Given the description of an element on the screen output the (x, y) to click on. 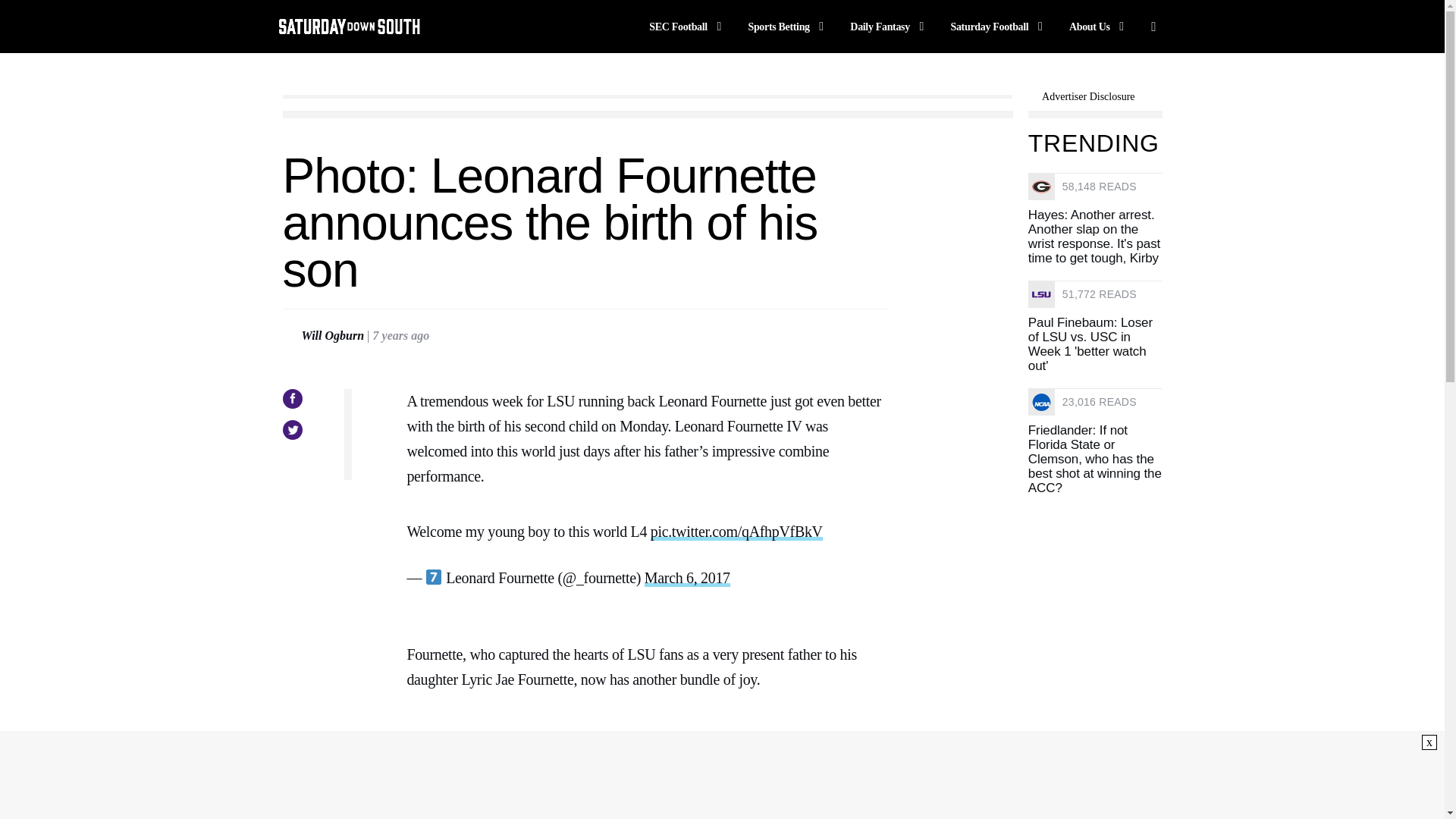
SEC Football (687, 26)
